Given the description of an element on the screen output the (x, y) to click on. 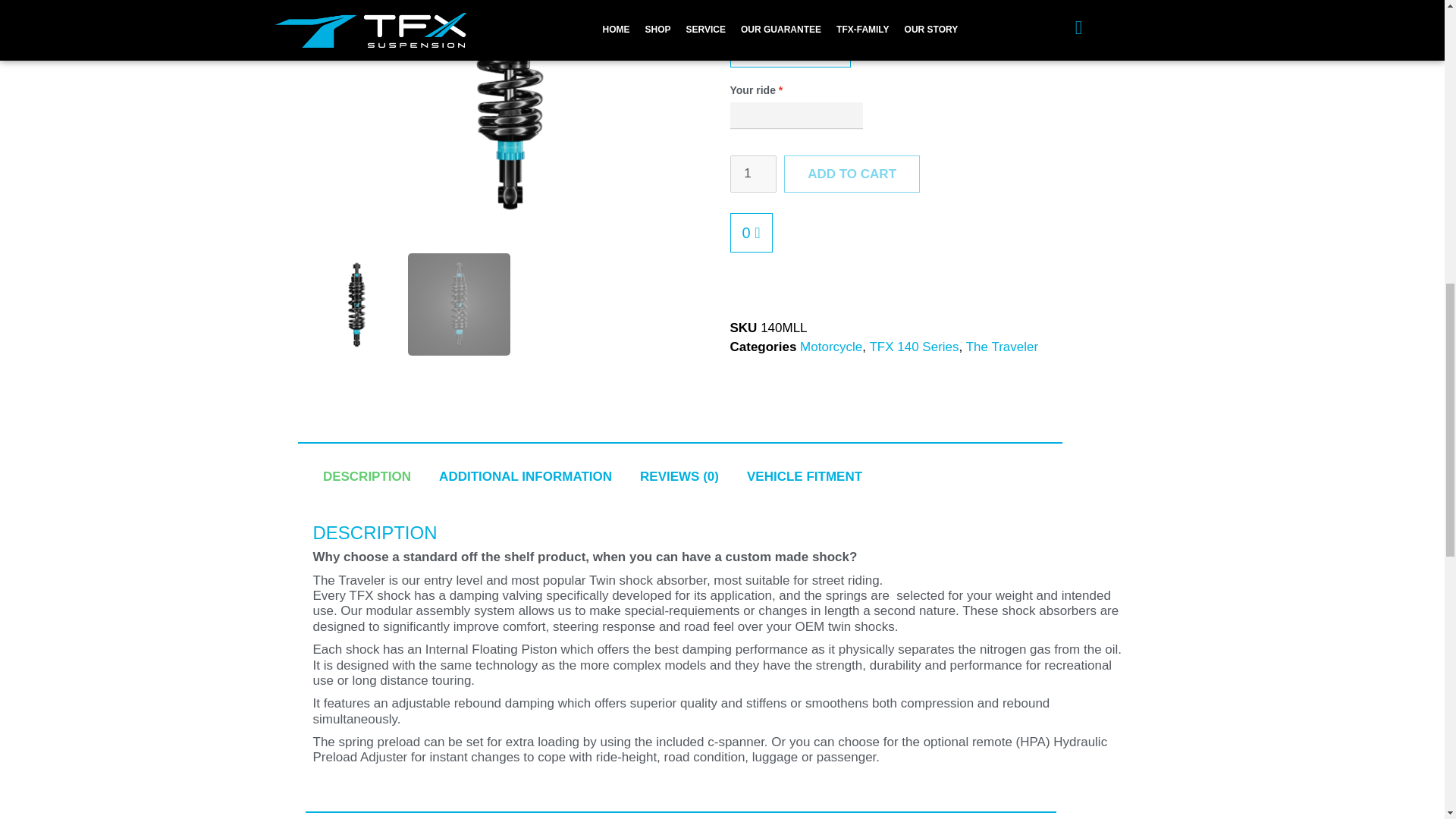
140MLL (509, 122)
ADD TO CART (852, 173)
0 (750, 232)
1 (752, 173)
SELECT RIDE (789, 48)
